Given the description of an element on the screen output the (x, y) to click on. 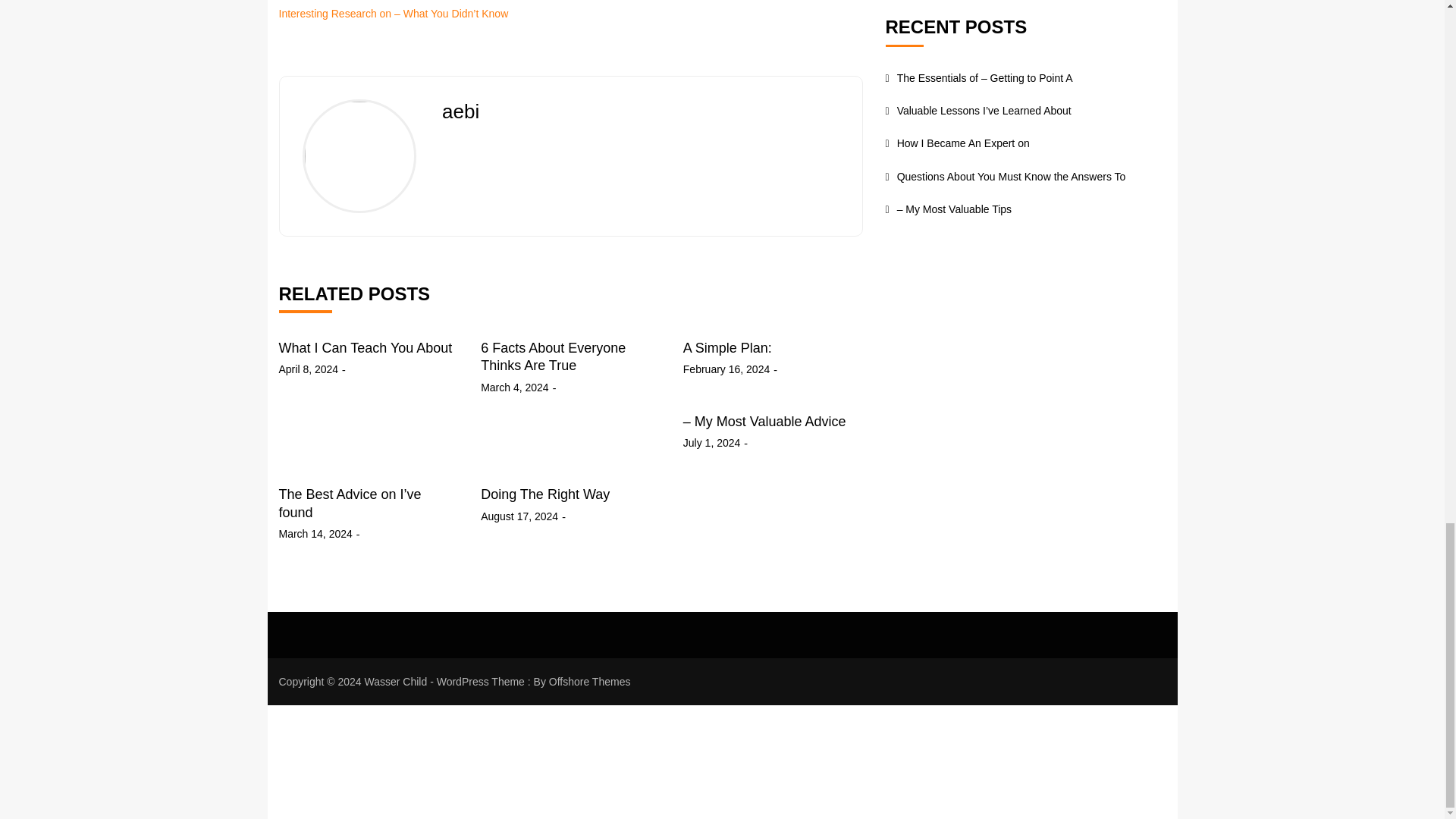
Doing The Right Way (545, 494)
6 Facts About Everyone Thinks Are True (553, 356)
July 1, 2024 (711, 442)
What I Can Teach You About (365, 347)
March 4, 2024 (514, 387)
March 14, 2024 (315, 533)
A Simple Plan: (726, 347)
February 16, 2024 (726, 369)
August 17, 2024 (518, 515)
April 8, 2024 (309, 369)
